Given the description of an element on the screen output the (x, y) to click on. 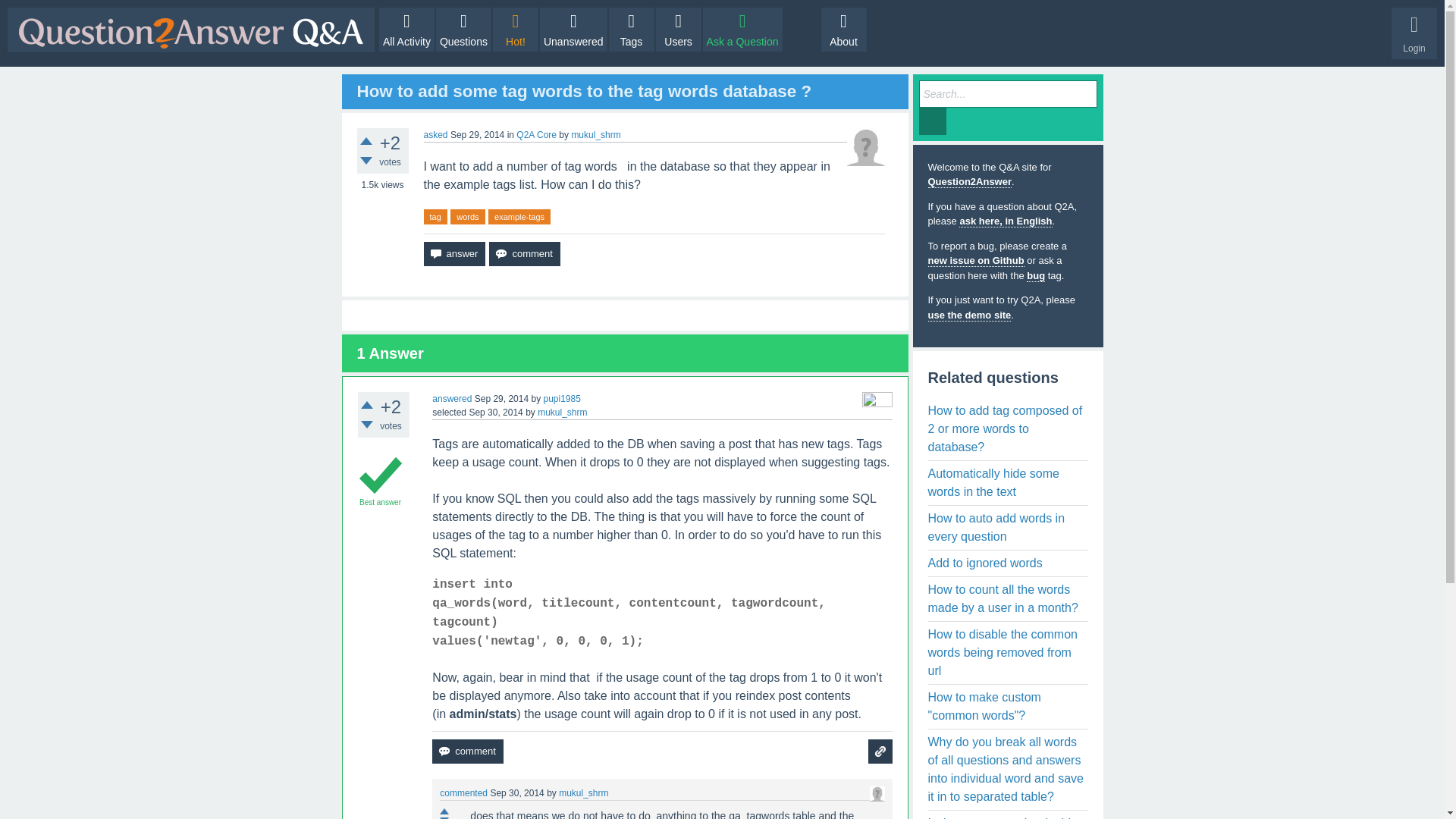
Ask a new question relating to this answer (879, 751)
Questions (463, 29)
comment (524, 253)
Tags (630, 29)
Q2A Core (536, 134)
answer (453, 253)
Click to vote up (365, 140)
Search (932, 121)
Add a comment on this question (524, 253)
example-tags (518, 217)
